Given the description of an element on the screen output the (x, y) to click on. 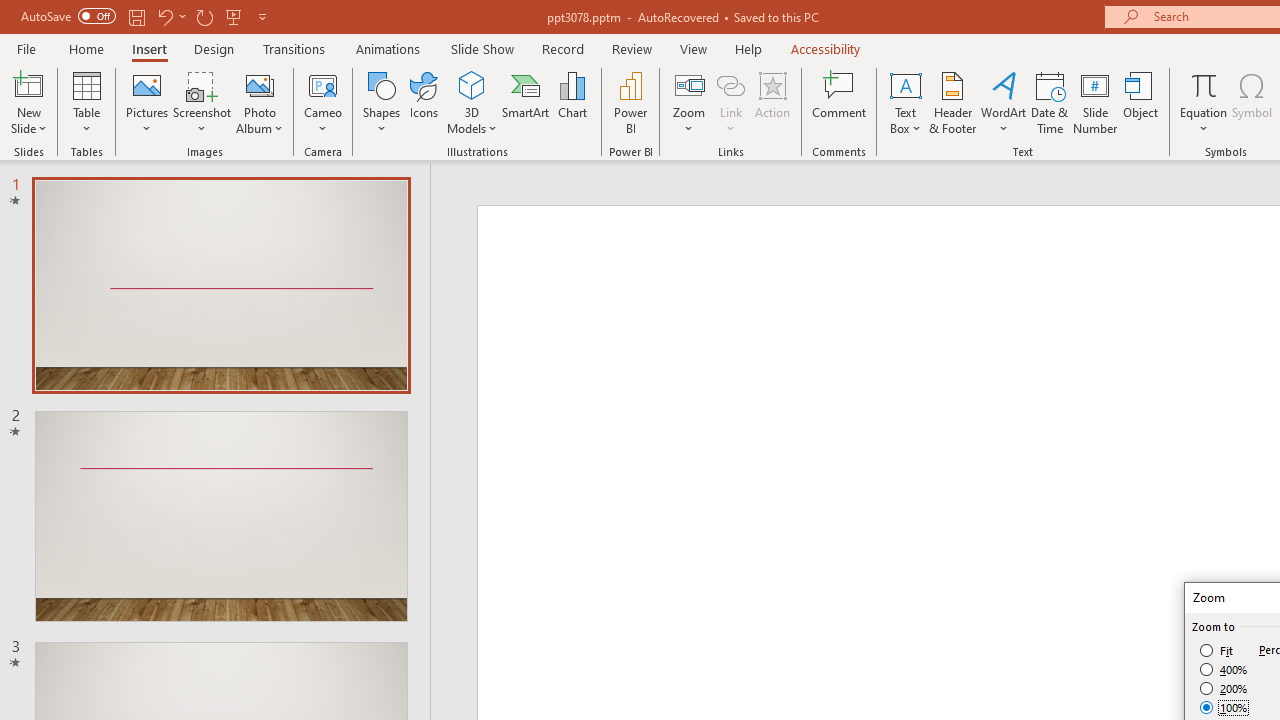
New Photo Album... (259, 84)
400% (1224, 669)
Draw Horizontal Text Box (905, 84)
Power BI (630, 102)
Screenshot (202, 102)
Header & Footer... (952, 102)
Comment (839, 102)
